Given the description of an element on the screen output the (x, y) to click on. 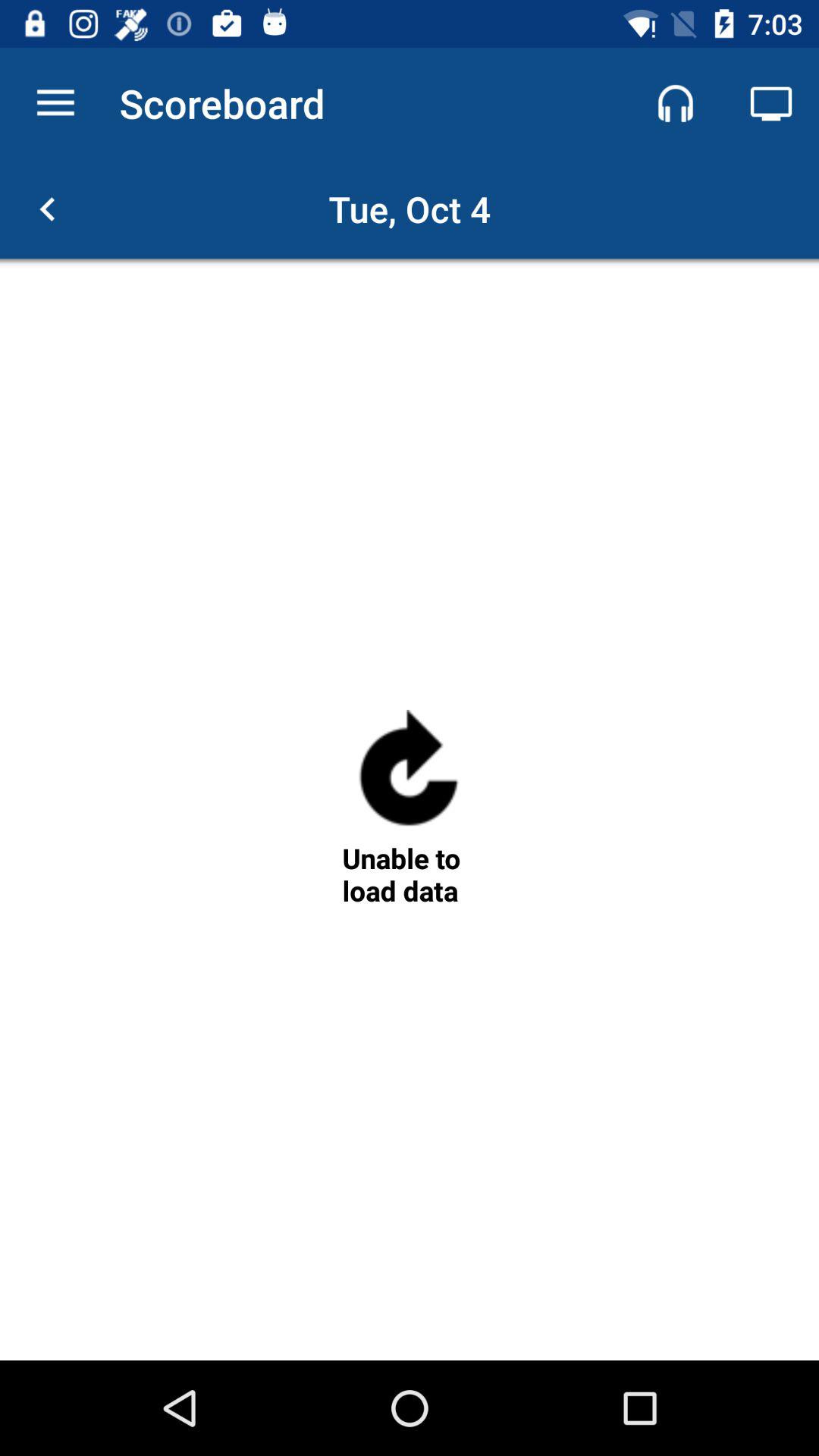
press the unable to load (409, 874)
